Given the description of an element on the screen output the (x, y) to click on. 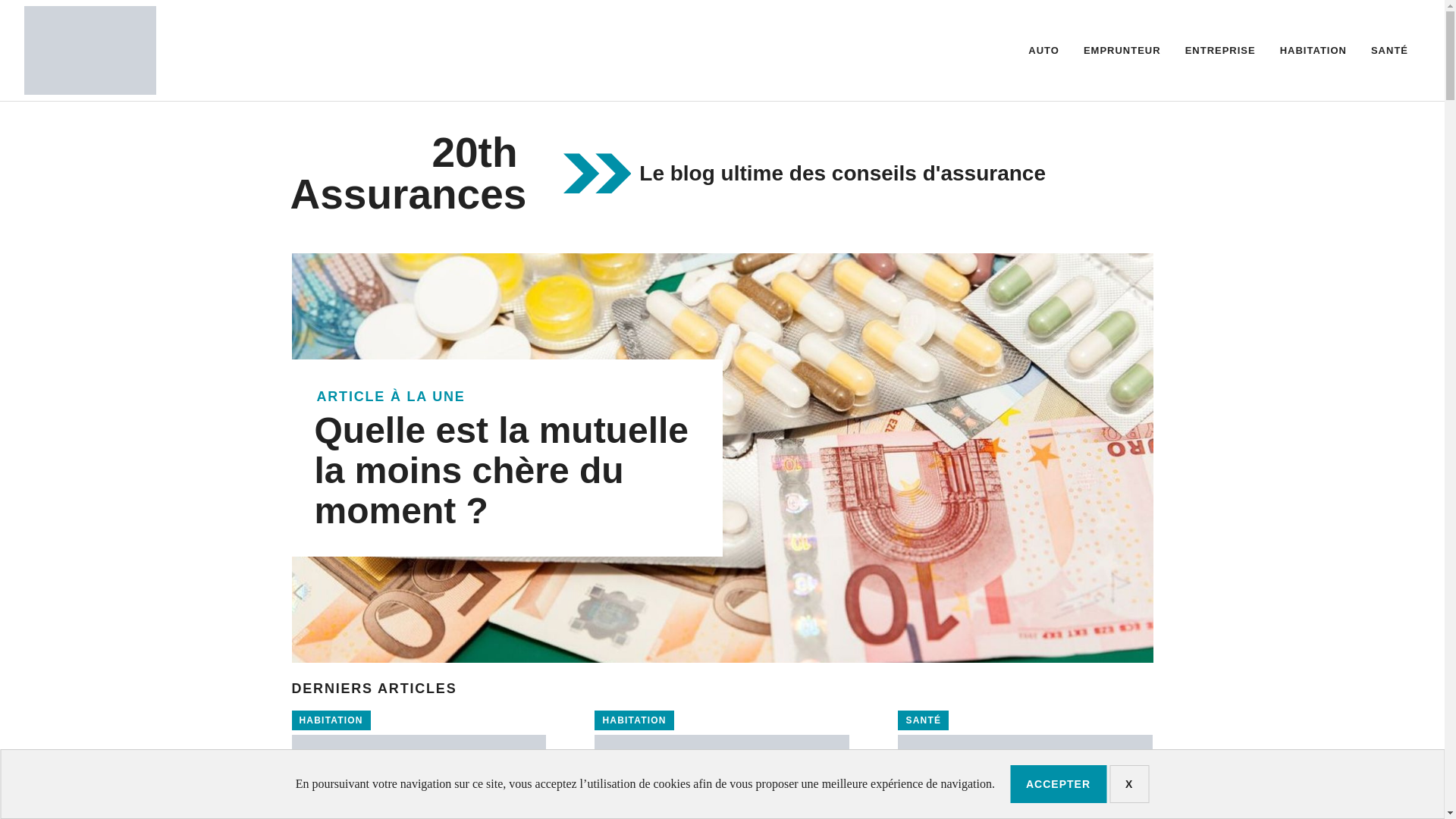
ENTREPRISE Element type: text (1220, 49)
EMPRUNTEUR Element type: text (1122, 49)
AUTO Element type: text (1043, 49)
HABITATION Element type: text (1312, 49)
X Element type: text (1128, 784)
ACCEPTER Element type: text (1058, 784)
